Given the description of an element on the screen output the (x, y) to click on. 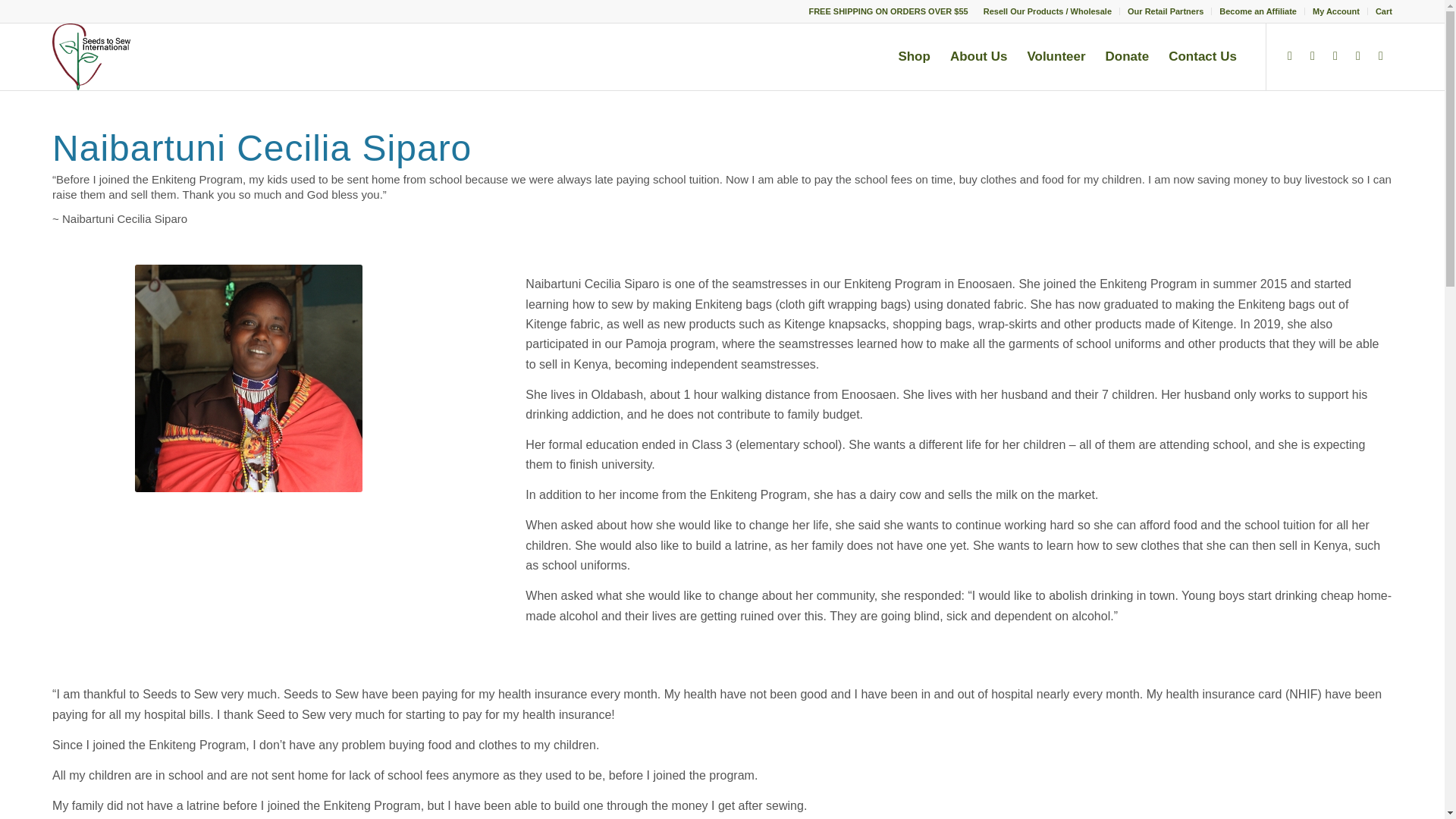
Facebook (1289, 56)
Naibartuni Cecilia Siparo (248, 378)
Our Retail Partners (1165, 11)
Instagram (1312, 56)
Volunteer (1055, 56)
Donate (1127, 56)
Twitter (1380, 56)
Youtube (1334, 56)
My Account (1336, 11)
Become an Affiliate (1258, 11)
About Us (978, 56)
Contact Us (1202, 56)
Pinterest (1358, 56)
